Given the description of an element on the screen output the (x, y) to click on. 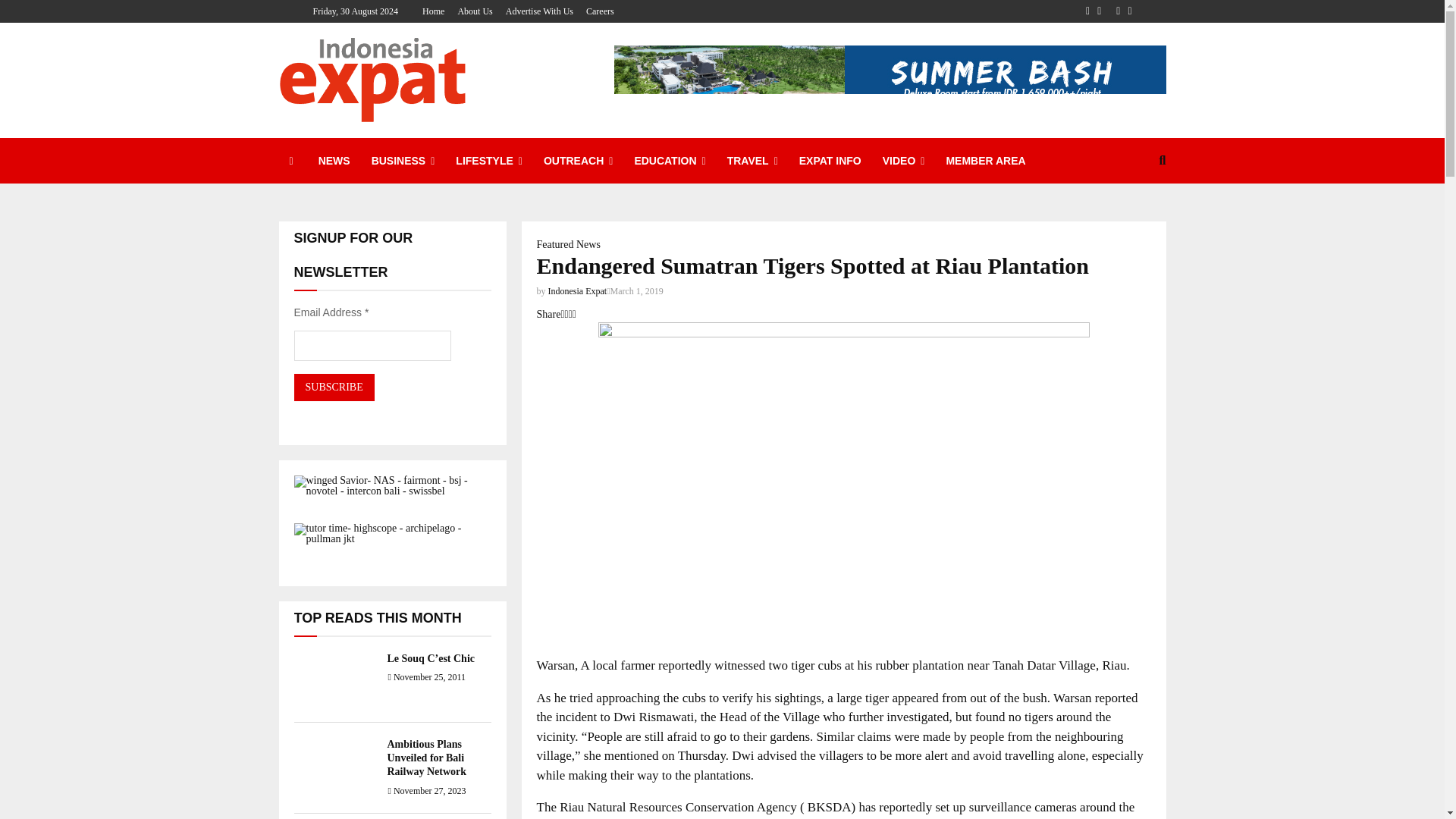
Subscribe (334, 387)
TRAVEL (752, 160)
EXPAT INFO (830, 160)
BUSINESS (403, 160)
About Us (474, 11)
NEWS (334, 160)
EDUCATION (669, 160)
 Ambitious Plans Unveiled for Bali Railway Network  (426, 757)
Home (433, 11)
OUTREACH (577, 160)
